Given the description of an element on the screen output the (x, y) to click on. 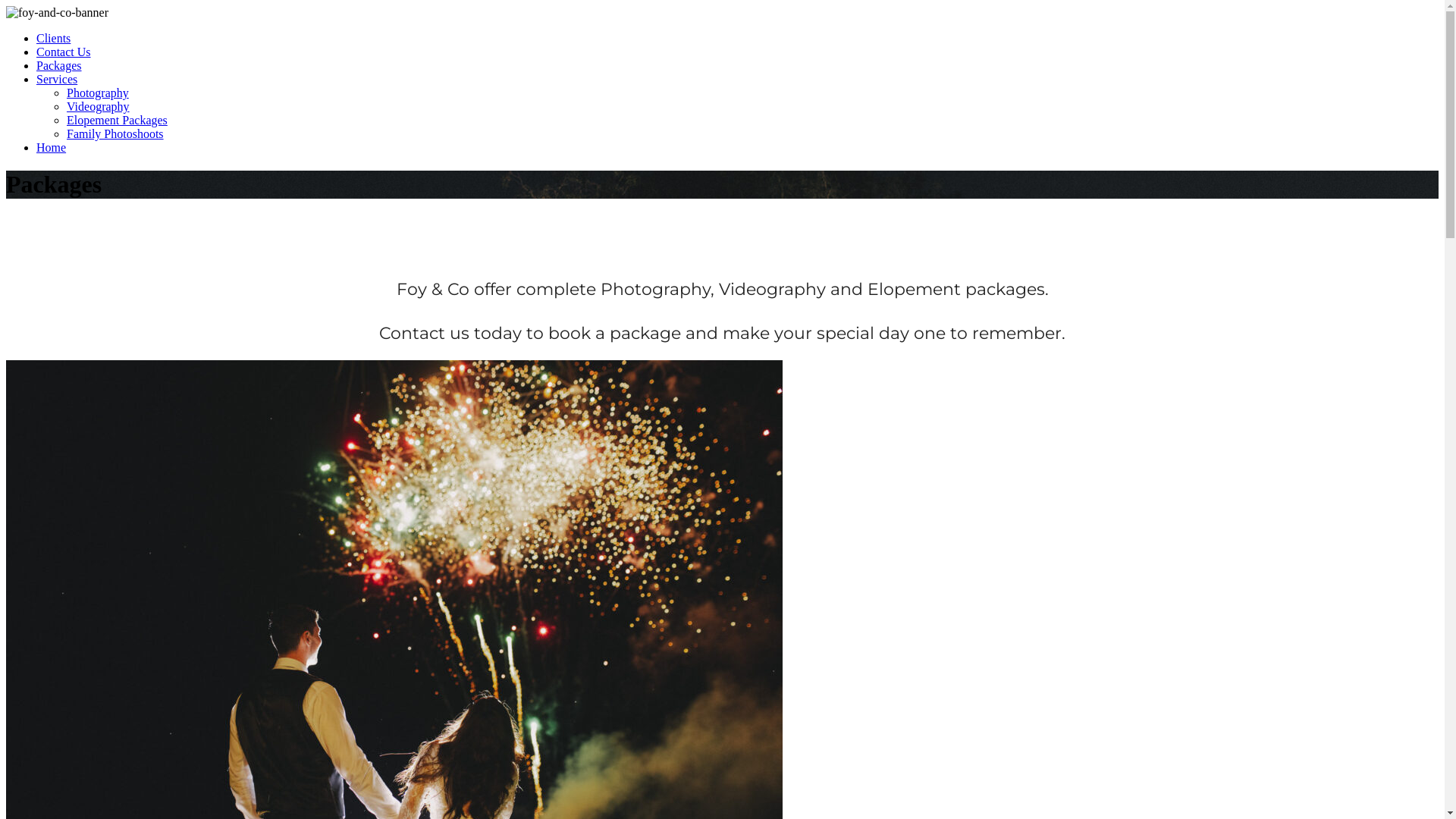
Home Element type: text (50, 147)
Packages Element type: text (58, 65)
Videography Element type: text (97, 106)
Contact Us Element type: text (63, 51)
Services Element type: text (56, 78)
Clients Element type: text (53, 37)
Family Photoshoots Element type: text (114, 133)
Elopement Packages Element type: text (116, 119)
Photography Element type: text (97, 92)
